Given the description of an element on the screen output the (x, y) to click on. 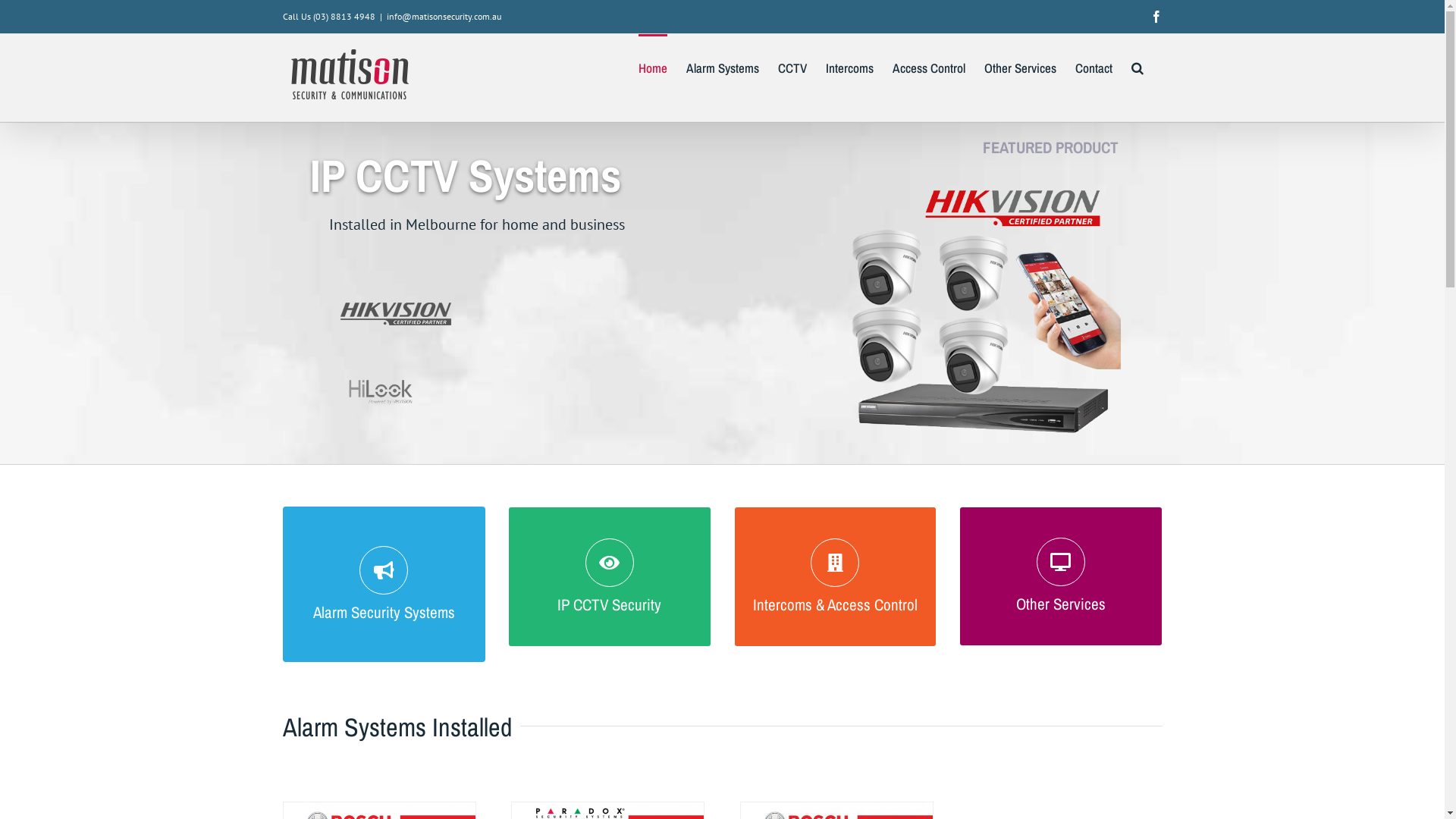
Facebook Element type: text (1155, 16)
Home Element type: text (652, 66)
Intercoms Element type: text (848, 66)
Access Control Element type: text (927, 66)
Search Element type: hover (1137, 66)
Alarm Systems Element type: text (721, 66)
CCTV Element type: text (792, 66)
Other Services Element type: text (1020, 66)
info@matisonsecurity.com.au Element type: text (443, 15)
Contact Element type: text (1093, 66)
